Given the description of an element on the screen output the (x, y) to click on. 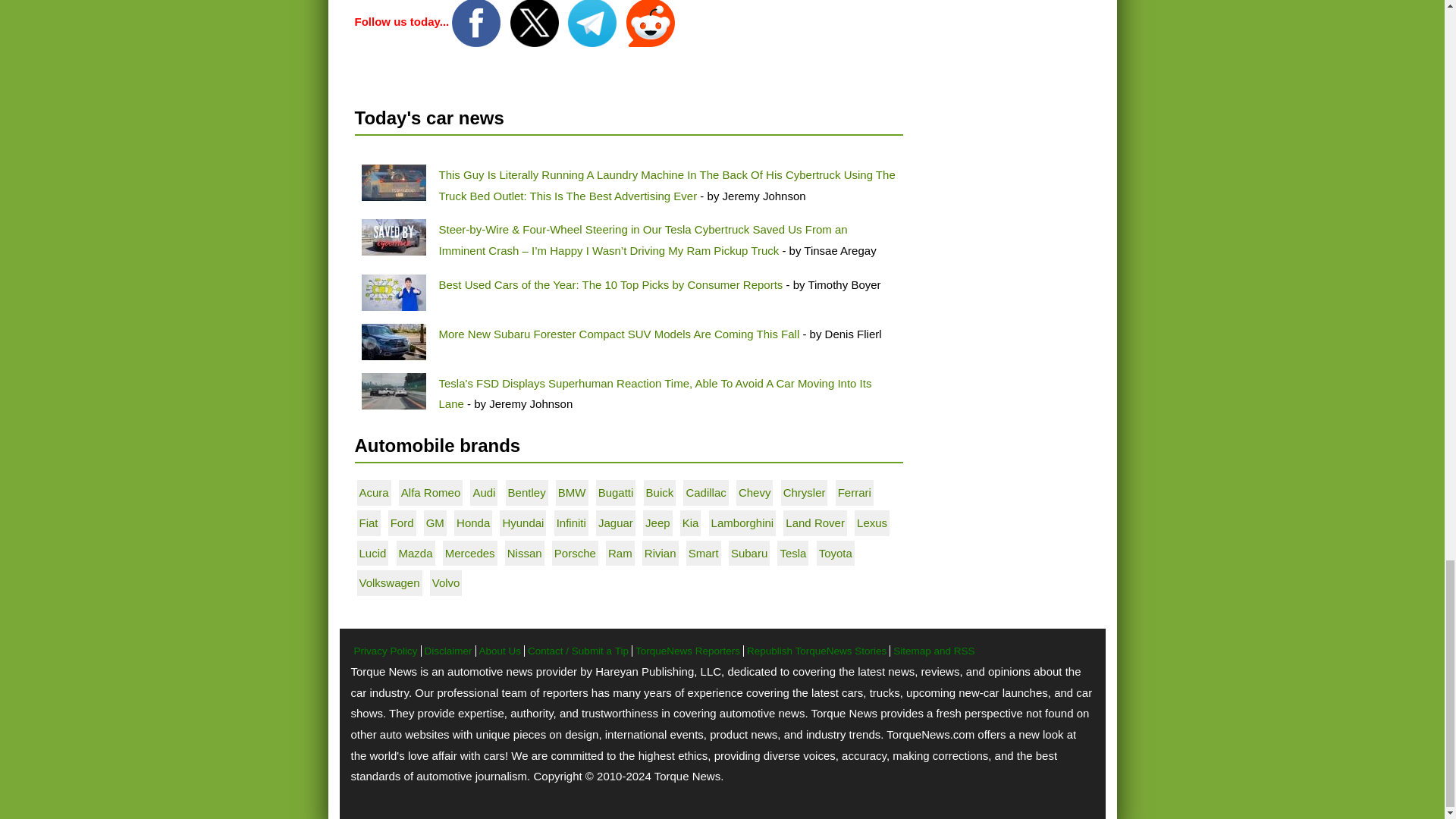
Used Cars Reviewed on Par with New Car Reviews (393, 292)
Join us on Telegram! (593, 21)
Join us on Reddit! (650, 21)
2025 Subaru Forester front view (393, 341)
